Given the description of an element on the screen output the (x, y) to click on. 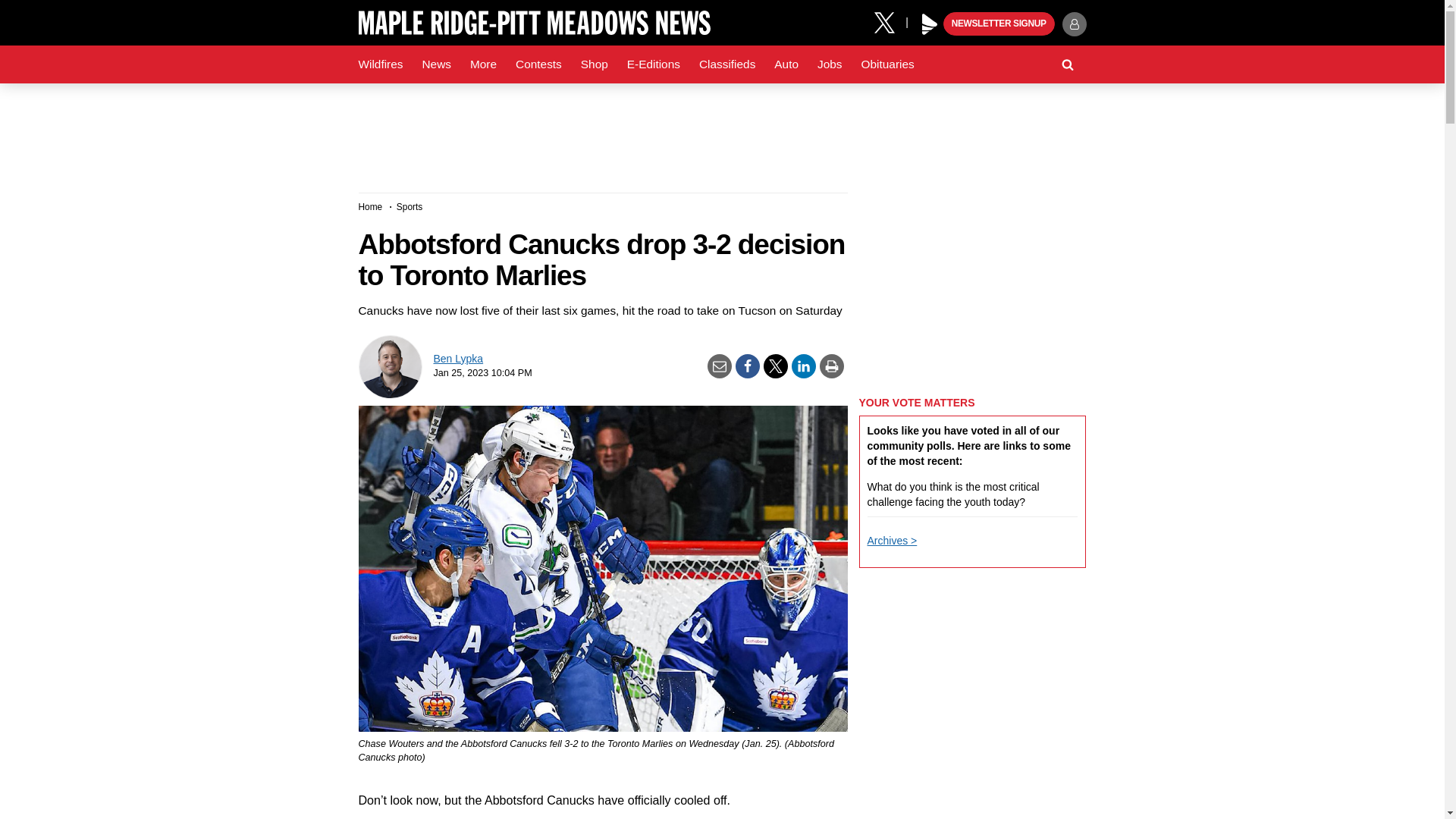
NEWSLETTER SIGNUP (998, 24)
Play (929, 24)
Wildfires (380, 64)
X (889, 21)
News (435, 64)
Black Press Media (929, 24)
